Given the description of an element on the screen output the (x, y) to click on. 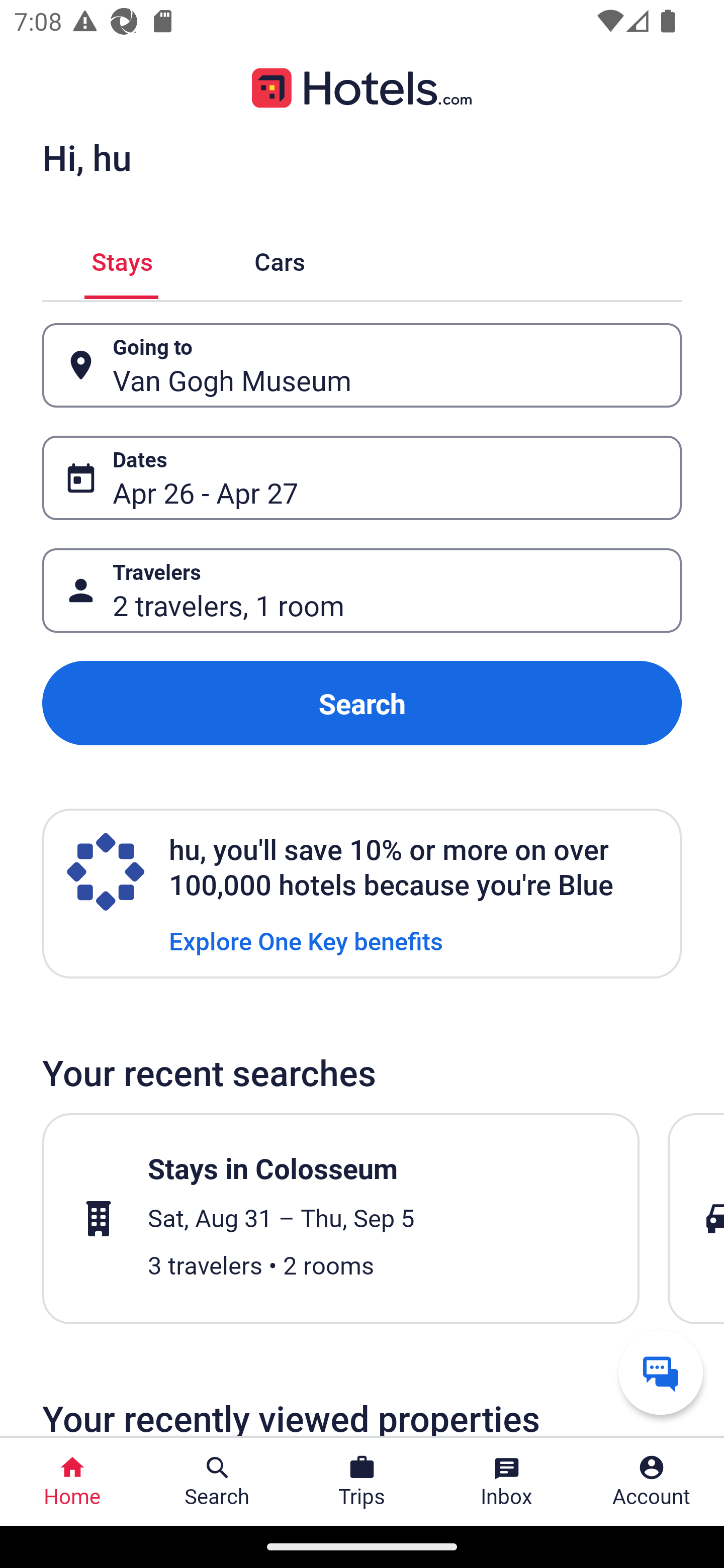
Hi, hu (86, 156)
Cars (279, 259)
Going to Button Van Gogh Museum (361, 365)
Dates Button Apr 26 - Apr 27 (361, 477)
Travelers Button 2 travelers, 1 room (361, 590)
Search (361, 702)
Get help from a virtual agent (660, 1371)
Search Search Button (216, 1481)
Trips Trips Button (361, 1481)
Inbox Inbox Button (506, 1481)
Account Profile. Button (651, 1481)
